Given the description of an element on the screen output the (x, y) to click on. 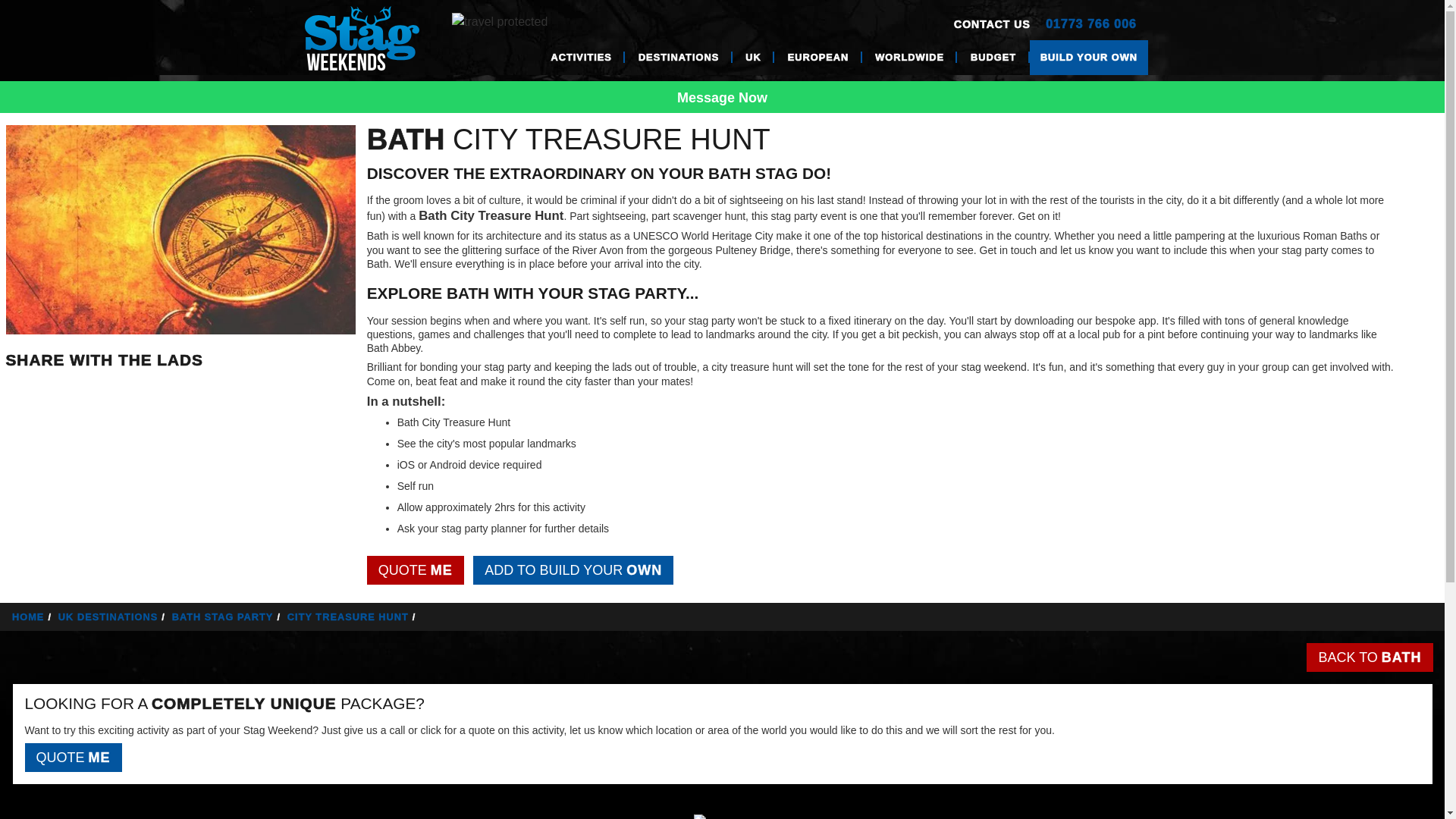
01773 766 006 (1091, 24)
BACK TO BATH (1369, 656)
ACTIVITIES (580, 58)
UK DESTINATIONS (113, 616)
DESTINATIONS (678, 58)
HOME (33, 616)
BUILD YOUR OWN (1088, 58)
CITY TREASURE HUNT (353, 616)
BUDGET (992, 58)
CONTACT US (991, 24)
